Given the description of an element on the screen output the (x, y) to click on. 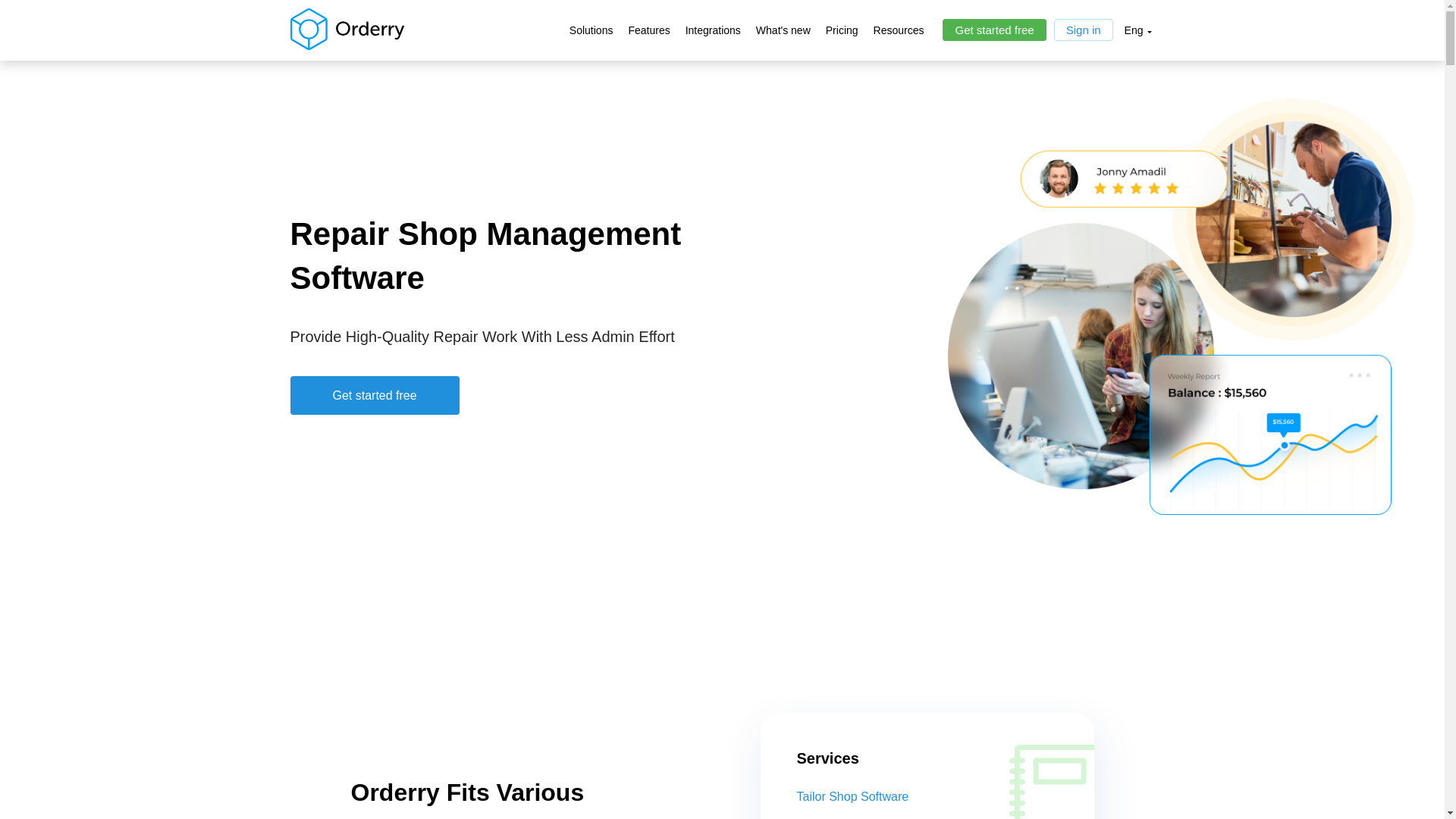
Solutions (590, 40)
Features (648, 40)
Integrations (713, 40)
